Given the description of an element on the screen output the (x, y) to click on. 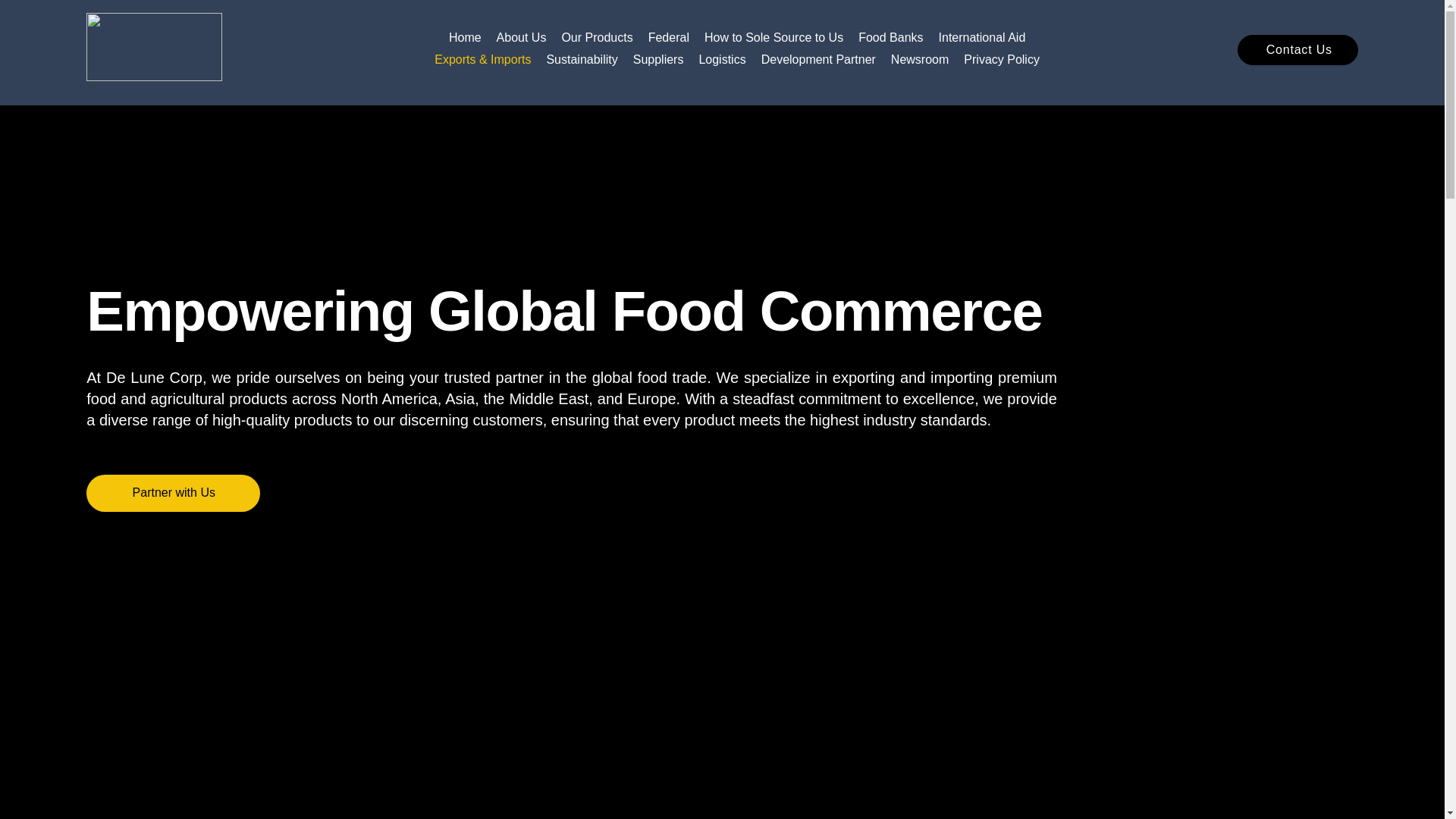
Federal (667, 37)
Privacy Policy (1001, 59)
Sustainability (581, 59)
Food Banks (891, 37)
Development Partner (818, 59)
How to Sole Source to Us (773, 37)
Logistics (721, 59)
About Us (521, 37)
Our Products (595, 37)
Newsroom (920, 59)
Partner with Us (172, 493)
Suppliers (658, 59)
Home (464, 37)
International Aid (982, 37)
Contact Us (1297, 50)
